Given the description of an element on the screen output the (x, y) to click on. 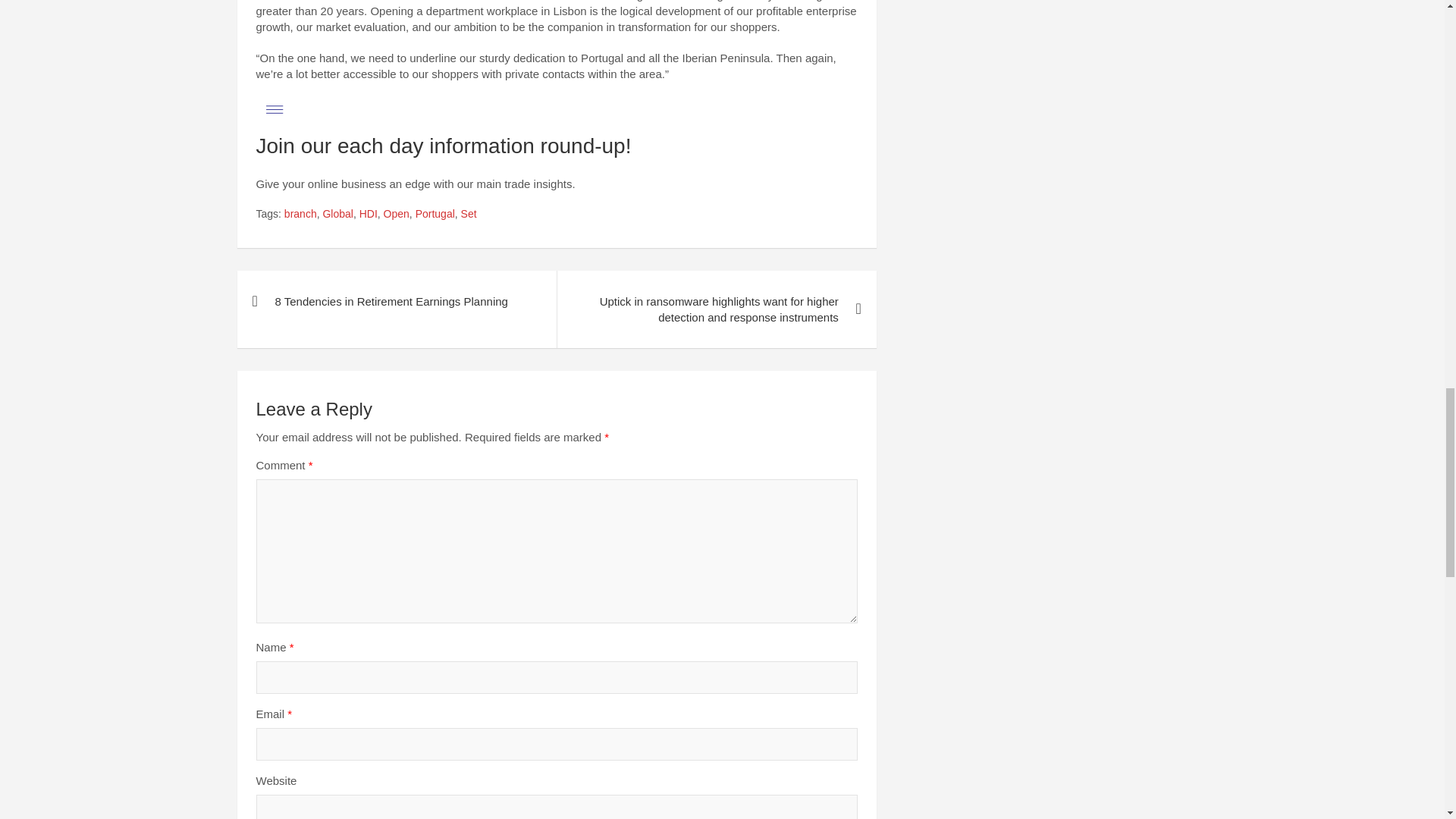
8 Tendencies in Retirement Earnings Planning (395, 301)
Global (336, 214)
Open (396, 214)
HDI (368, 214)
Set (469, 214)
branch (300, 214)
Portugal (434, 214)
